Given the description of an element on the screen output the (x, y) to click on. 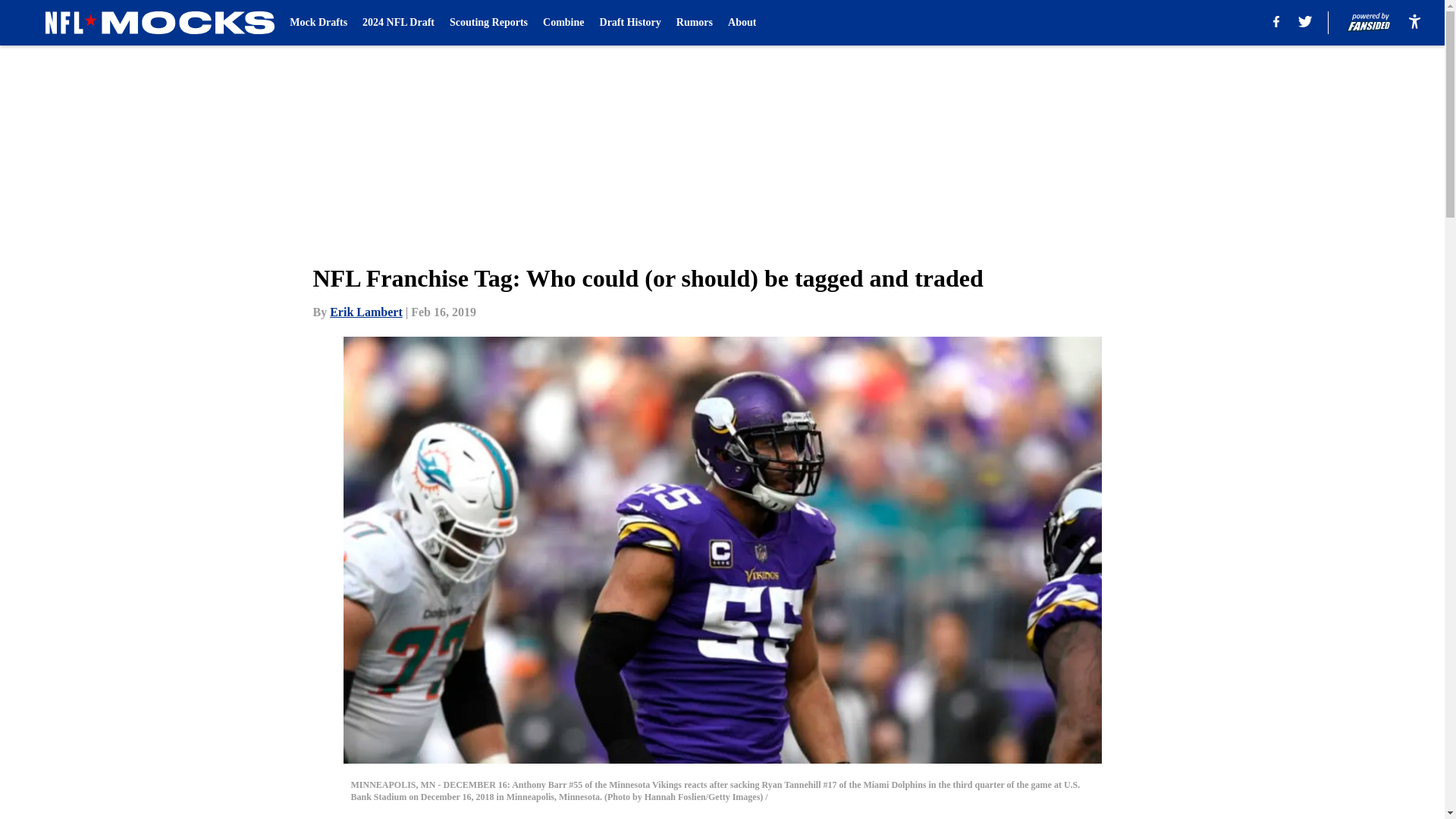
Erik Lambert (366, 311)
Draft History (630, 22)
Scouting Reports (488, 22)
Rumors (695, 22)
Combine (563, 22)
About (741, 22)
2024 NFL Draft (397, 22)
Mock Drafts (318, 22)
